Given the description of an element on the screen output the (x, y) to click on. 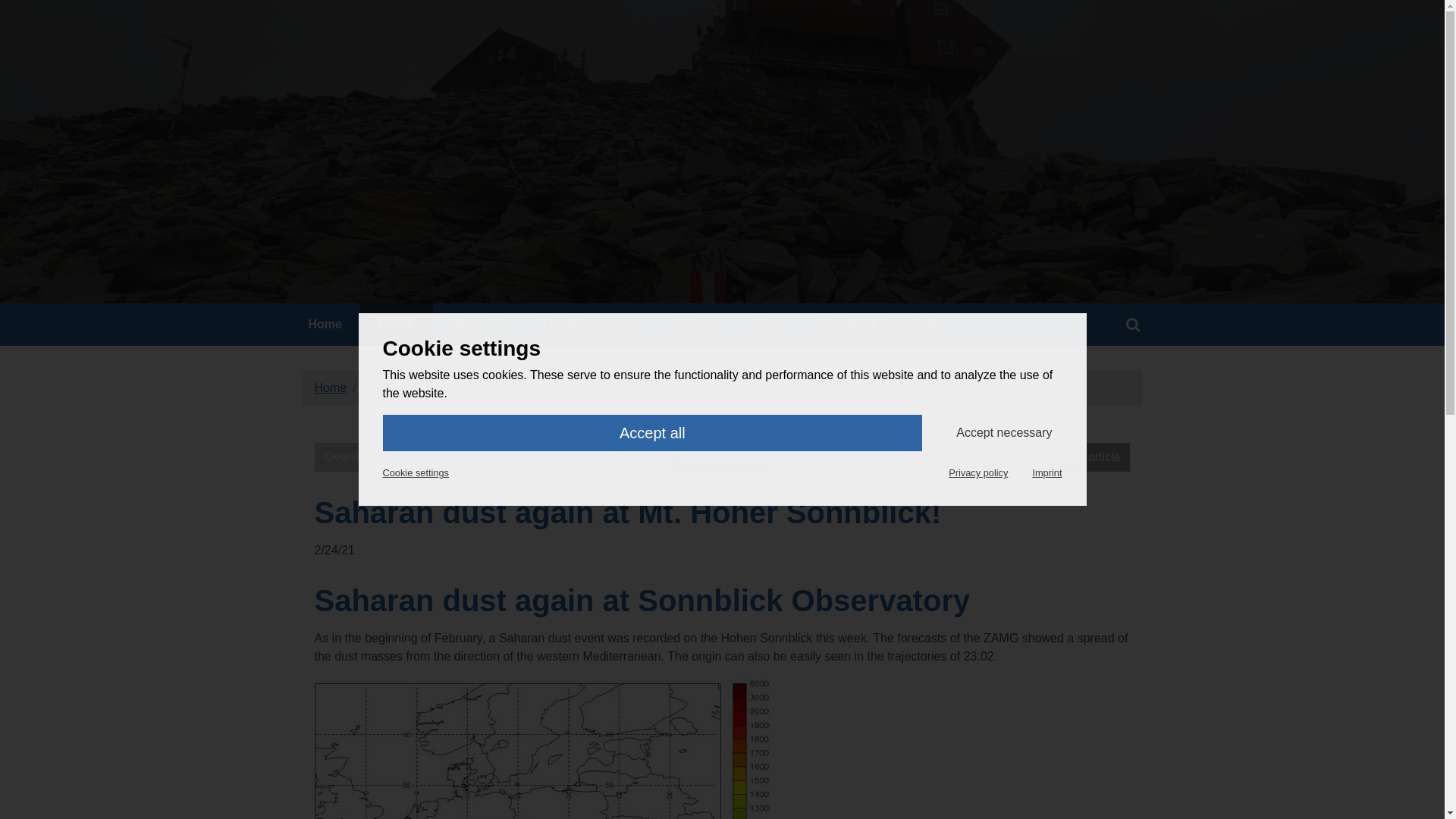
Home (324, 324)
The Observatory (589, 324)
Science (697, 324)
Search (1133, 324)
NEWS (395, 324)
About Us (477, 324)
